Given the description of an element on the screen output the (x, y) to click on. 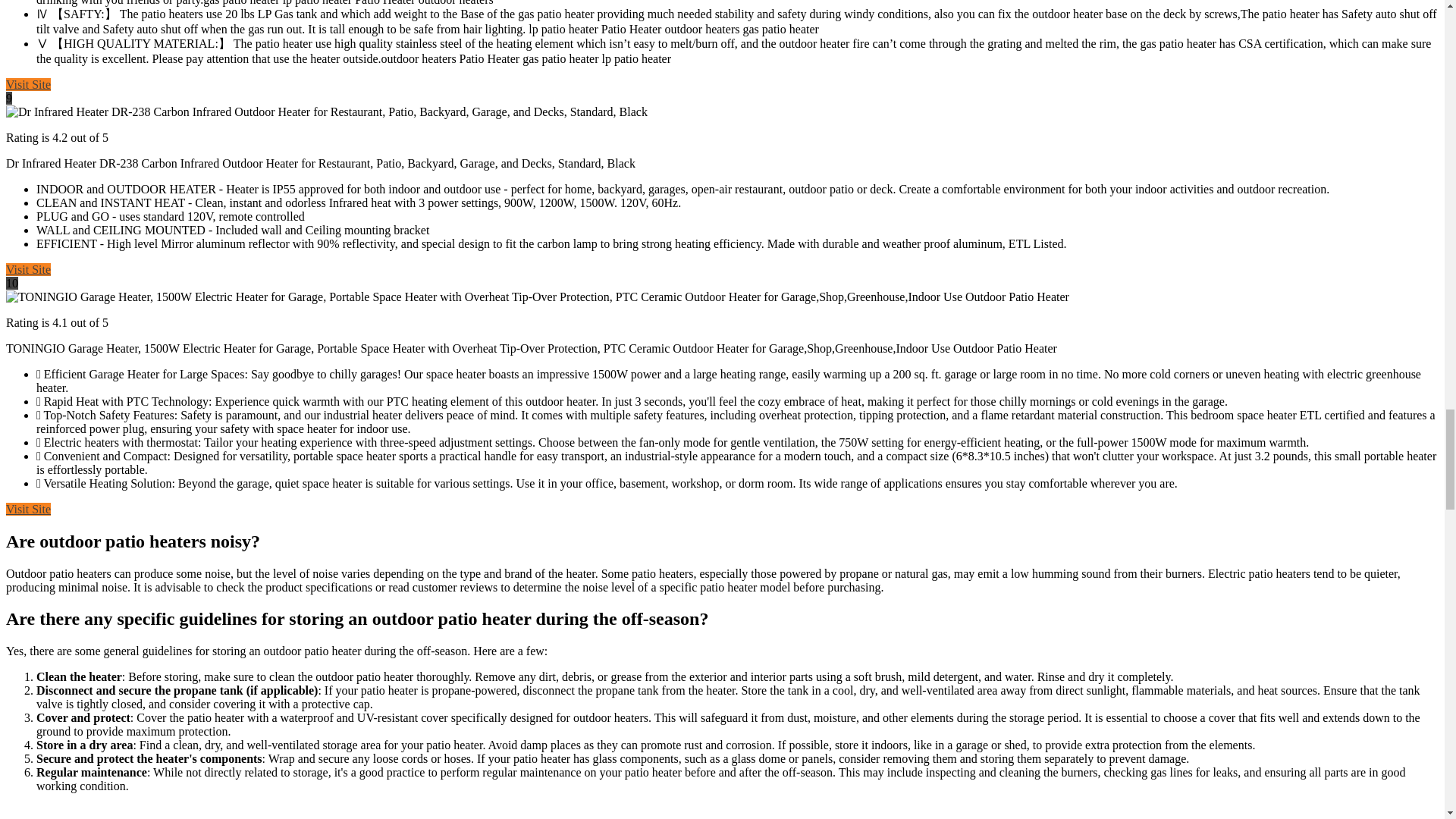
Visit Site (27, 508)
Visit Site (27, 83)
Visit Site (27, 269)
